Given the description of an element on the screen output the (x, y) to click on. 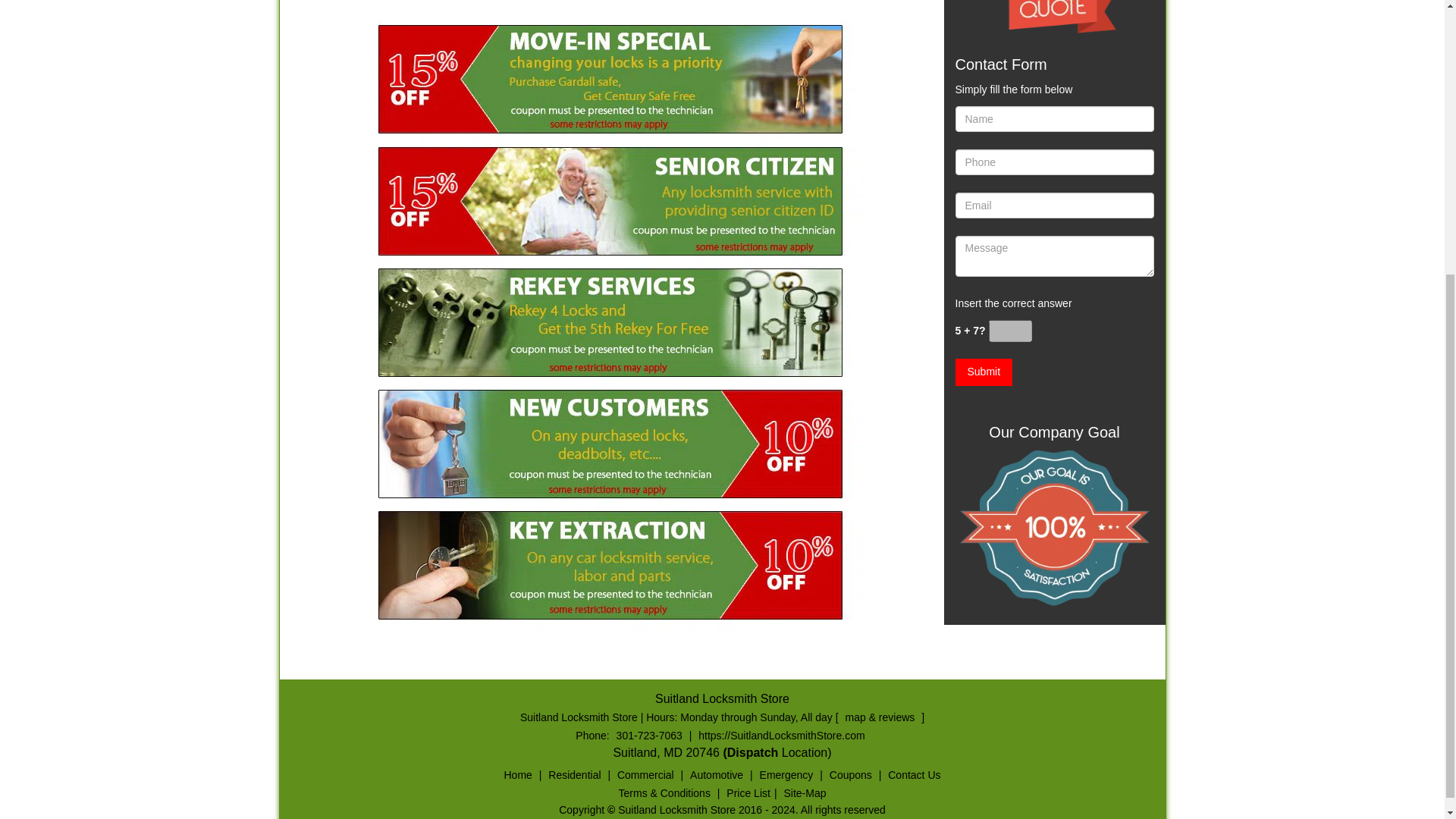
Suitland Locksmith Store Suitland, MD 301-723-7063 (1053, 16)
Phone Field required (1054, 162)
301-723-7063 (648, 735)
Message Field require (1054, 255)
Name Field required (1054, 118)
Automotive (715, 775)
Residential (574, 775)
Submit (984, 371)
Home (517, 775)
Suitland Locksmith Store Suitland, MD 301-723-7063 (1054, 528)
Commercial (645, 775)
Email Field required (1054, 205)
Submit (984, 371)
